Given the description of an element on the screen output the (x, y) to click on. 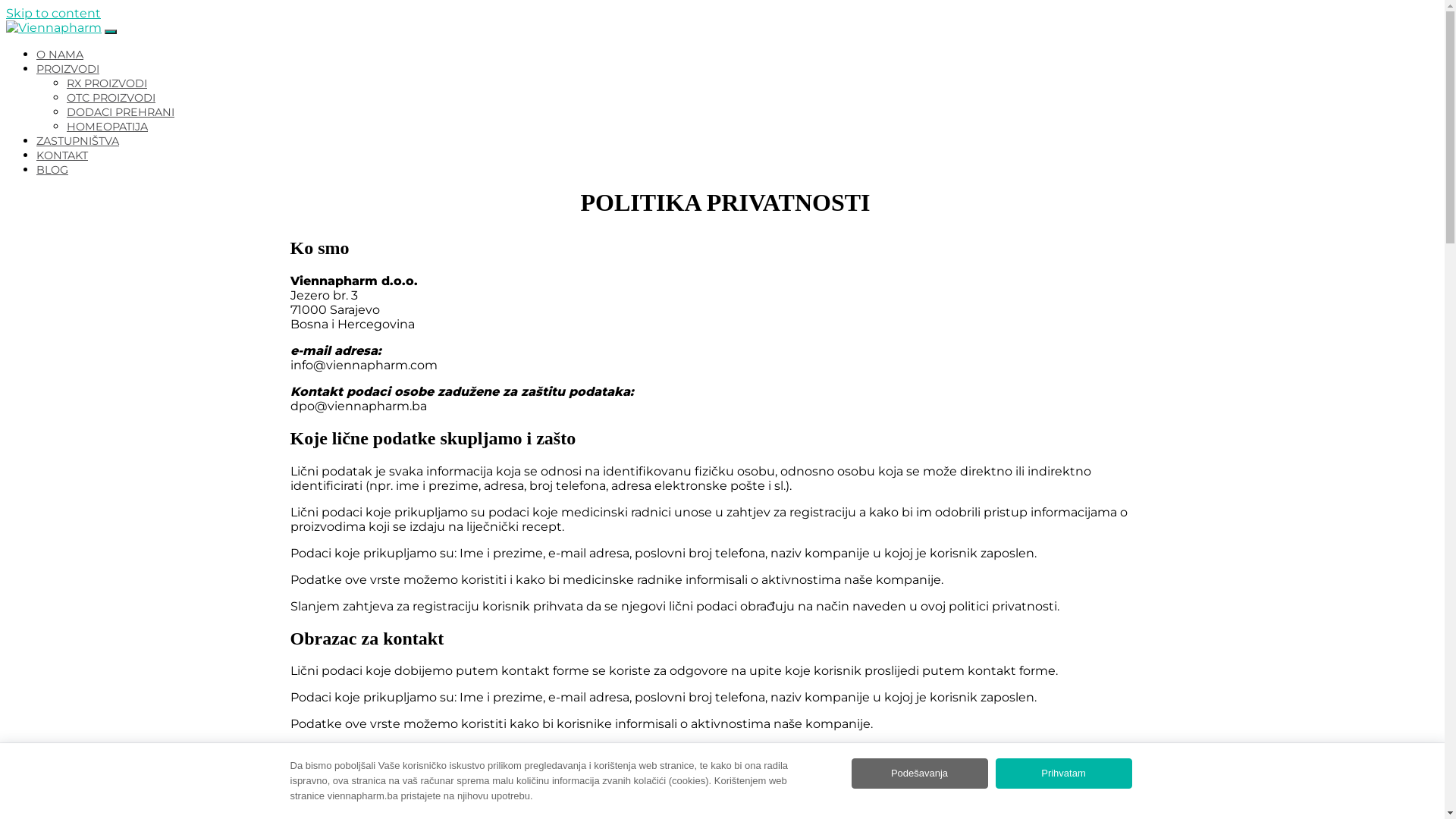
RX PROIZVODI Element type: text (106, 83)
O NAMA Element type: text (59, 54)
OTC PROIZVODI Element type: text (110, 97)
BLOG Element type: text (52, 169)
PROIZVODI Element type: text (67, 68)
KONTAKT Element type: text (61, 155)
HOMEOPATIJA Element type: text (106, 126)
Skip to content Element type: text (53, 13)
DODACI PREHRANI Element type: text (120, 112)
